Given the description of an element on the screen output the (x, y) to click on. 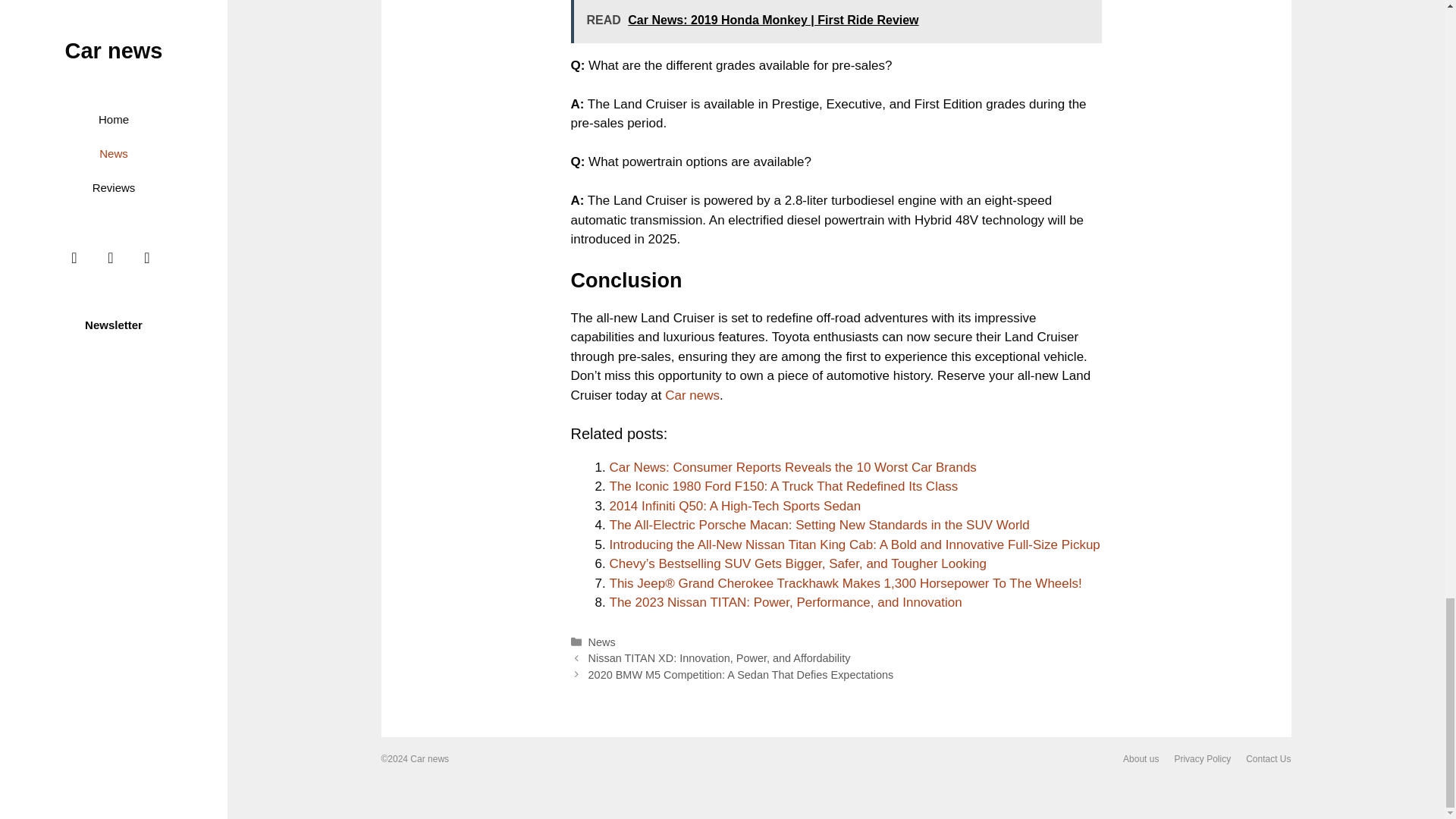
Car News: Consumer Reports Reveals the 10 Worst Car Brands (793, 467)
Nissan TITAN XD: Innovation, Power, and Affordability (719, 657)
Car news (692, 395)
The Iconic 1980 Ford F150: A Truck That Redefined Its Class (784, 486)
2020 BMW M5 Competition: A Sedan That Defies Expectations (740, 674)
News (601, 642)
2014 Infiniti Q50: A High-Tech Sports Sedan (735, 505)
Car News: Consumer Reports Reveals the 10 Worst Car Brands (793, 467)
2014 Infiniti Q50: A High-Tech Sports Sedan (735, 505)
The 2023 Nissan TITAN: Power, Performance, and Innovation (786, 602)
The Iconic 1980 Ford F150: A Truck That Redefined Its Class (784, 486)
